Given the description of an element on the screen output the (x, y) to click on. 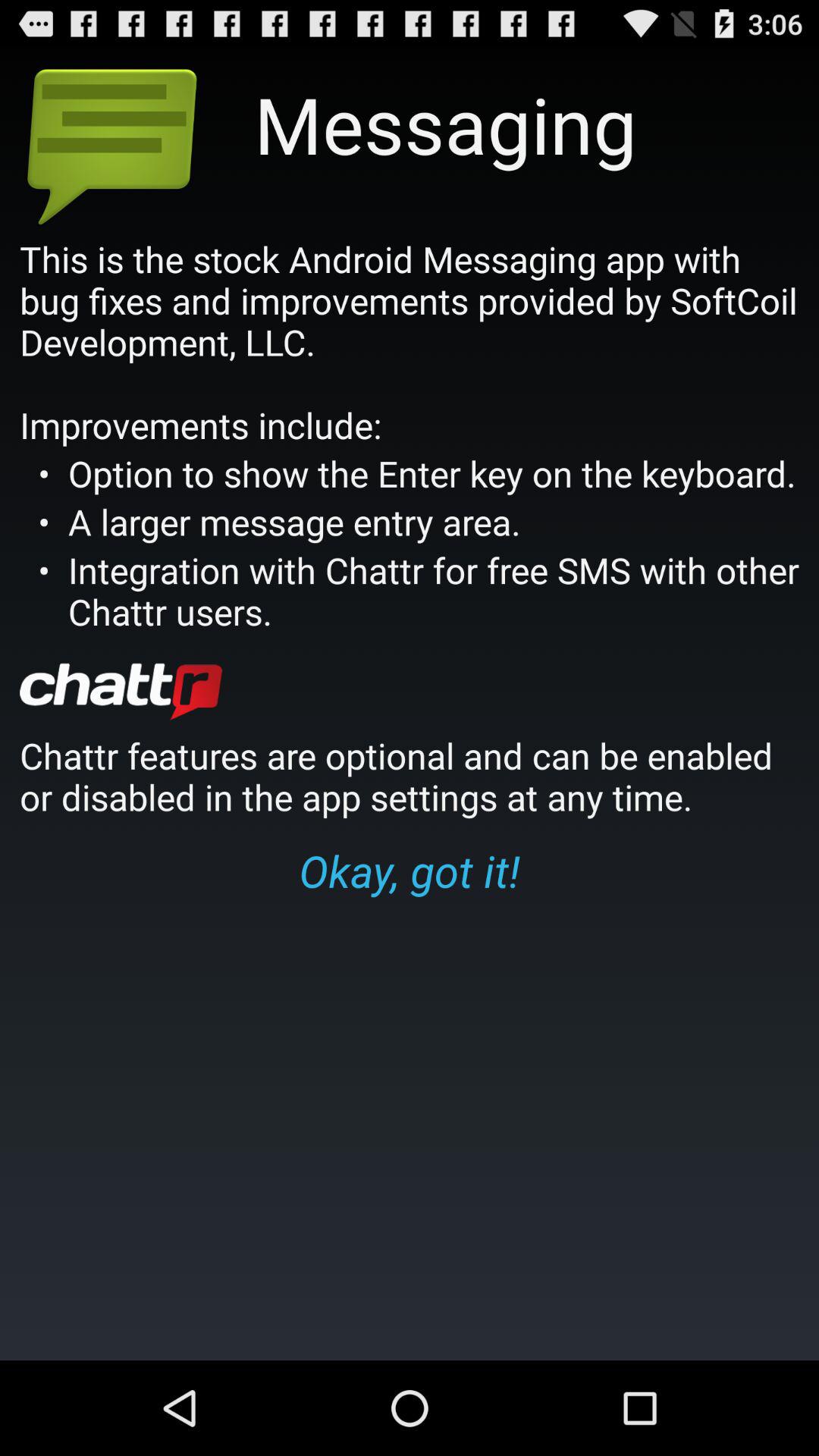
press the item below chattr features are icon (409, 870)
